Given the description of an element on the screen output the (x, y) to click on. 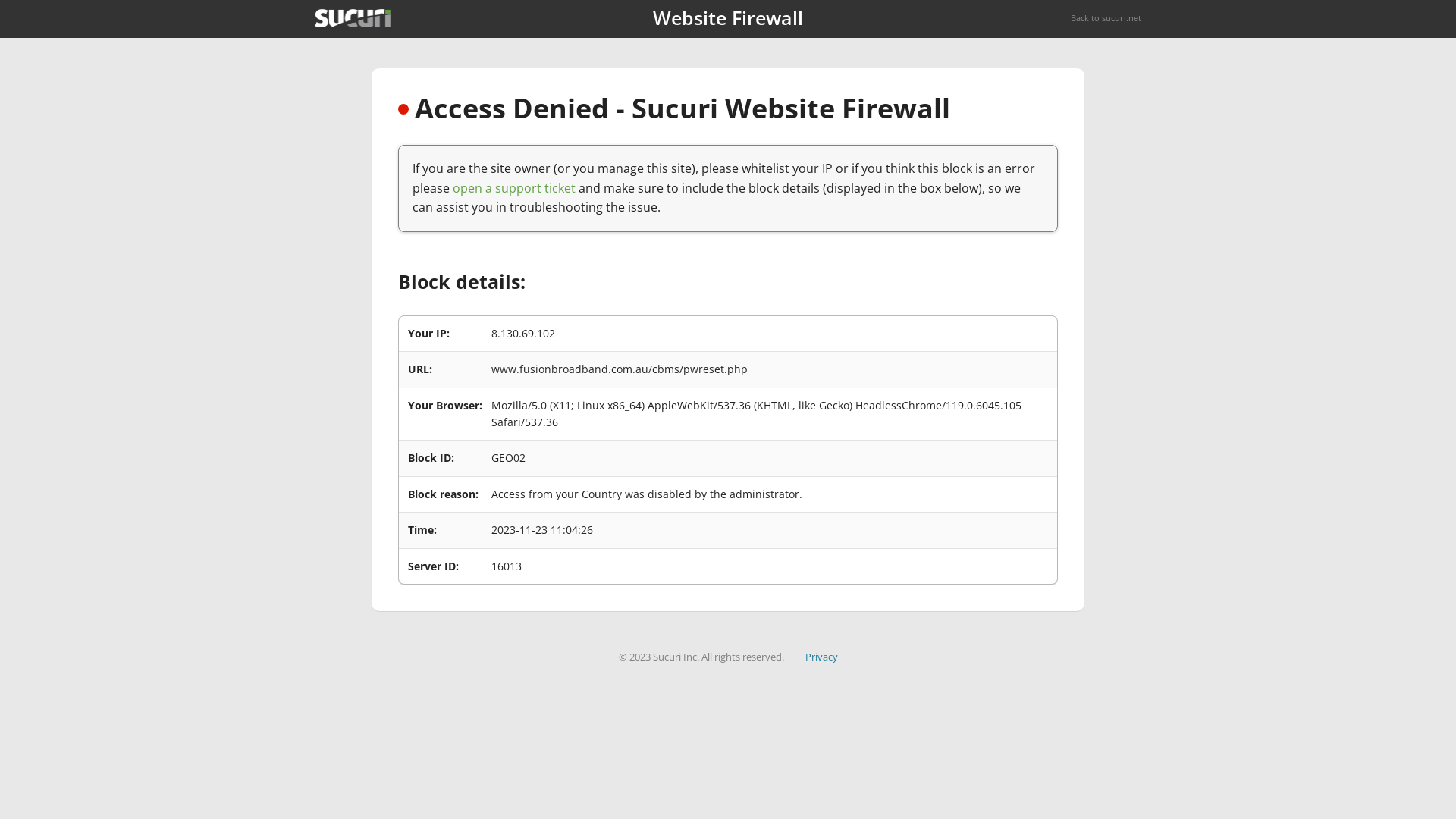
Back to sucuri.net Element type: text (1105, 18)
Privacy Element type: text (821, 656)
open a support ticket Element type: text (513, 187)
